Given the description of an element on the screen output the (x, y) to click on. 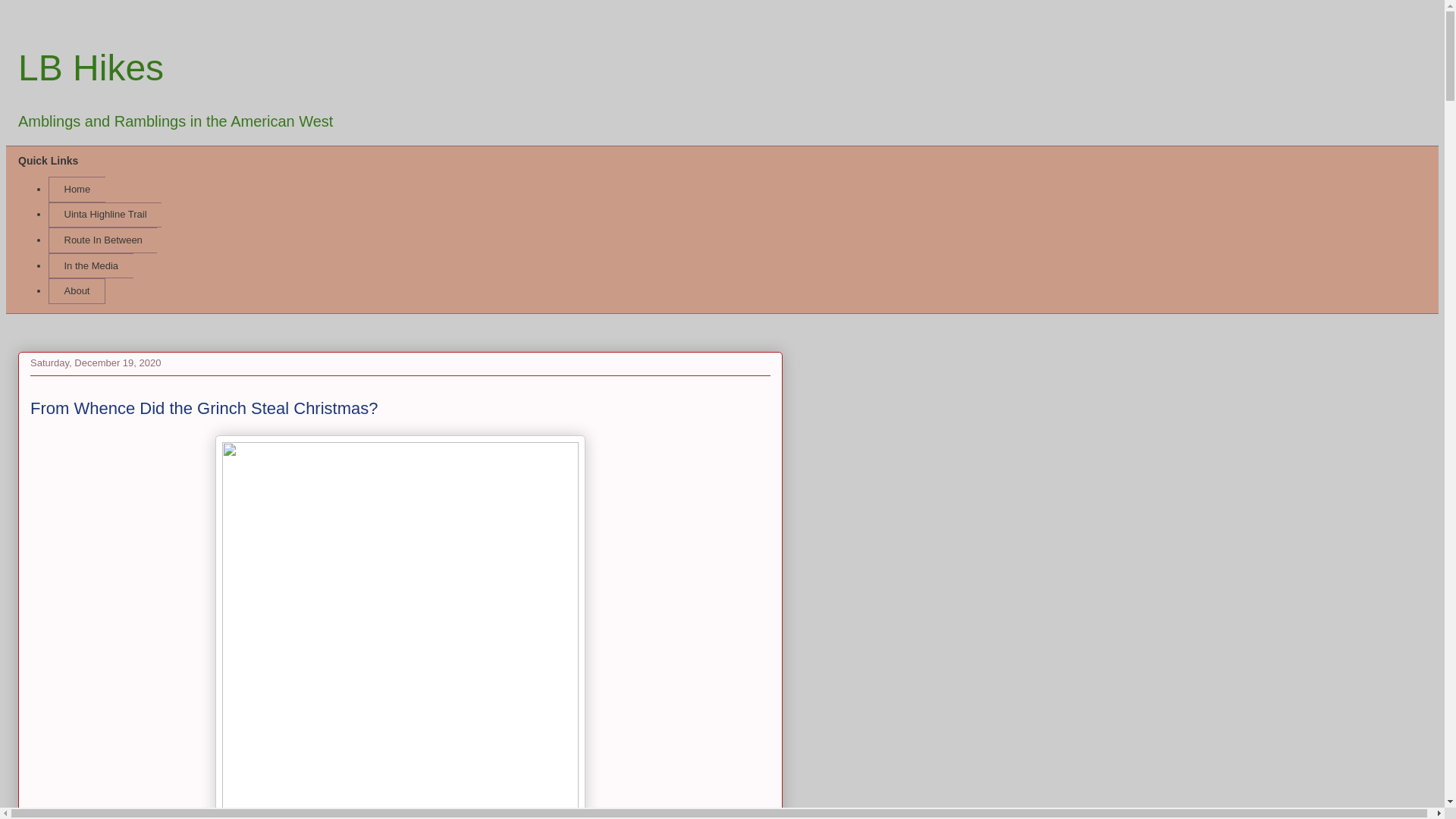
Home (76, 189)
Route In Between (102, 240)
In the Media (90, 266)
About (76, 290)
LB Hikes (90, 67)
Uinta Highline Trail (104, 215)
